Given the description of an element on the screen output the (x, y) to click on. 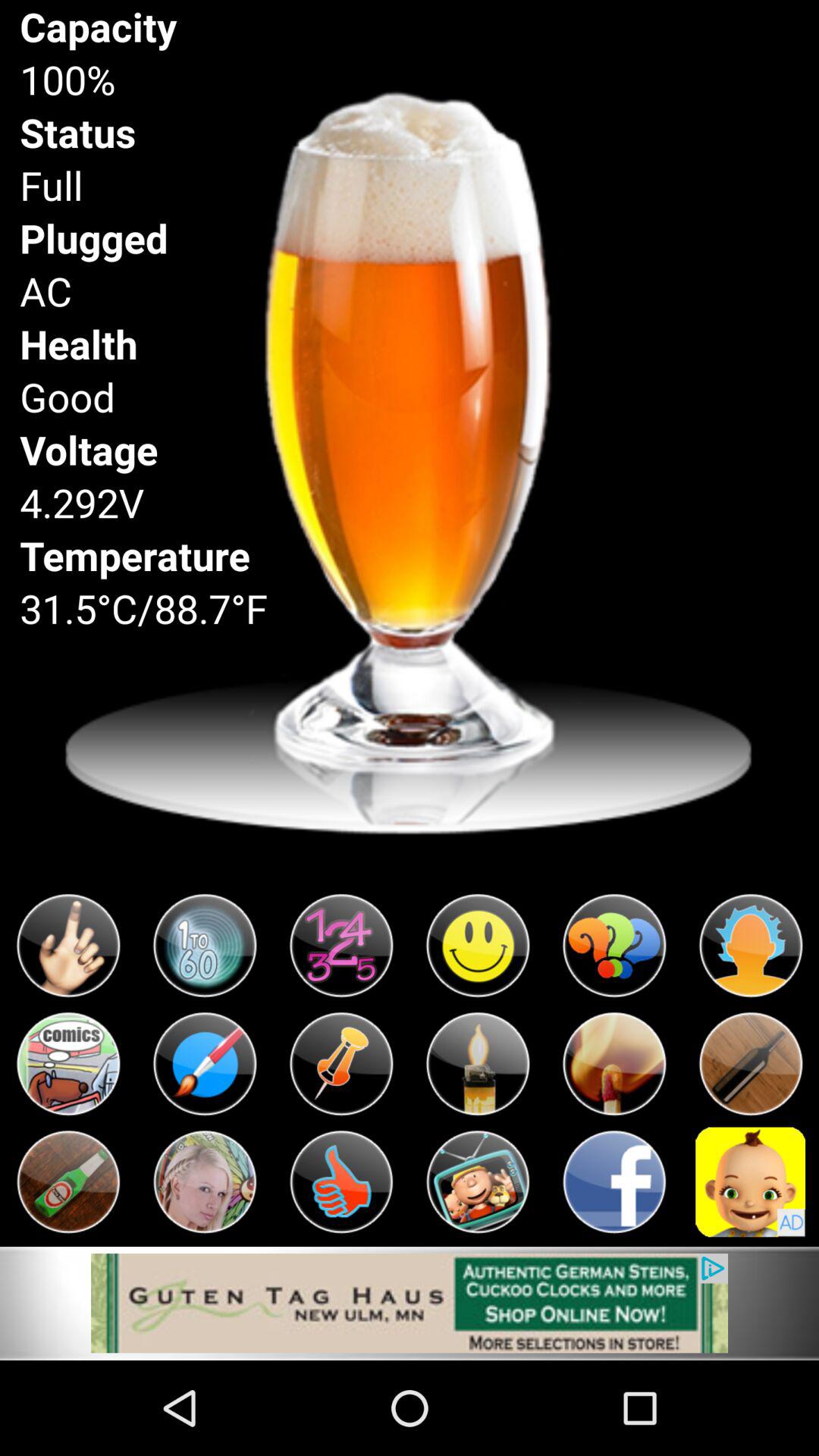
it is chosen key (68, 1063)
